Given the description of an element on the screen output the (x, y) to click on. 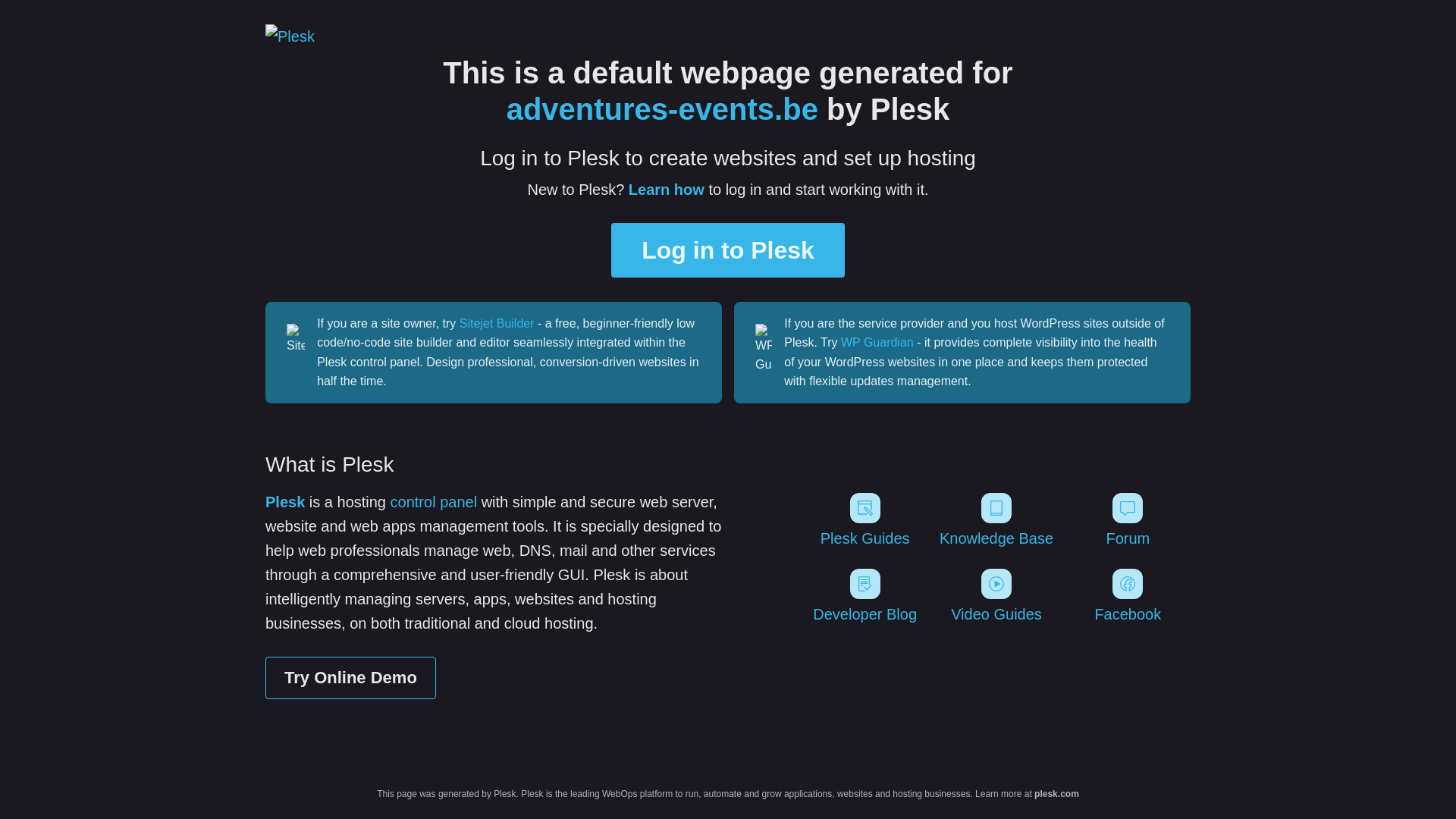
Facebook Element type: text (1127, 595)
Developer Blog Element type: text (864, 595)
Sitejet Builder Element type: text (496, 322)
control panel Element type: text (433, 501)
Log in to Plesk Element type: text (727, 249)
Forum Element type: text (1127, 519)
Learn how Element type: text (666, 189)
Knowledge Base Element type: text (995, 519)
Plesk Guides Element type: text (864, 519)
Plesk Element type: text (284, 501)
Try Online Demo Element type: text (350, 677)
Video Guides Element type: text (995, 595)
plesk.com Element type: text (1056, 793)
WP Guardian Element type: text (876, 341)
adventures-events.be Element type: text (662, 108)
